Given the description of an element on the screen output the (x, y) to click on. 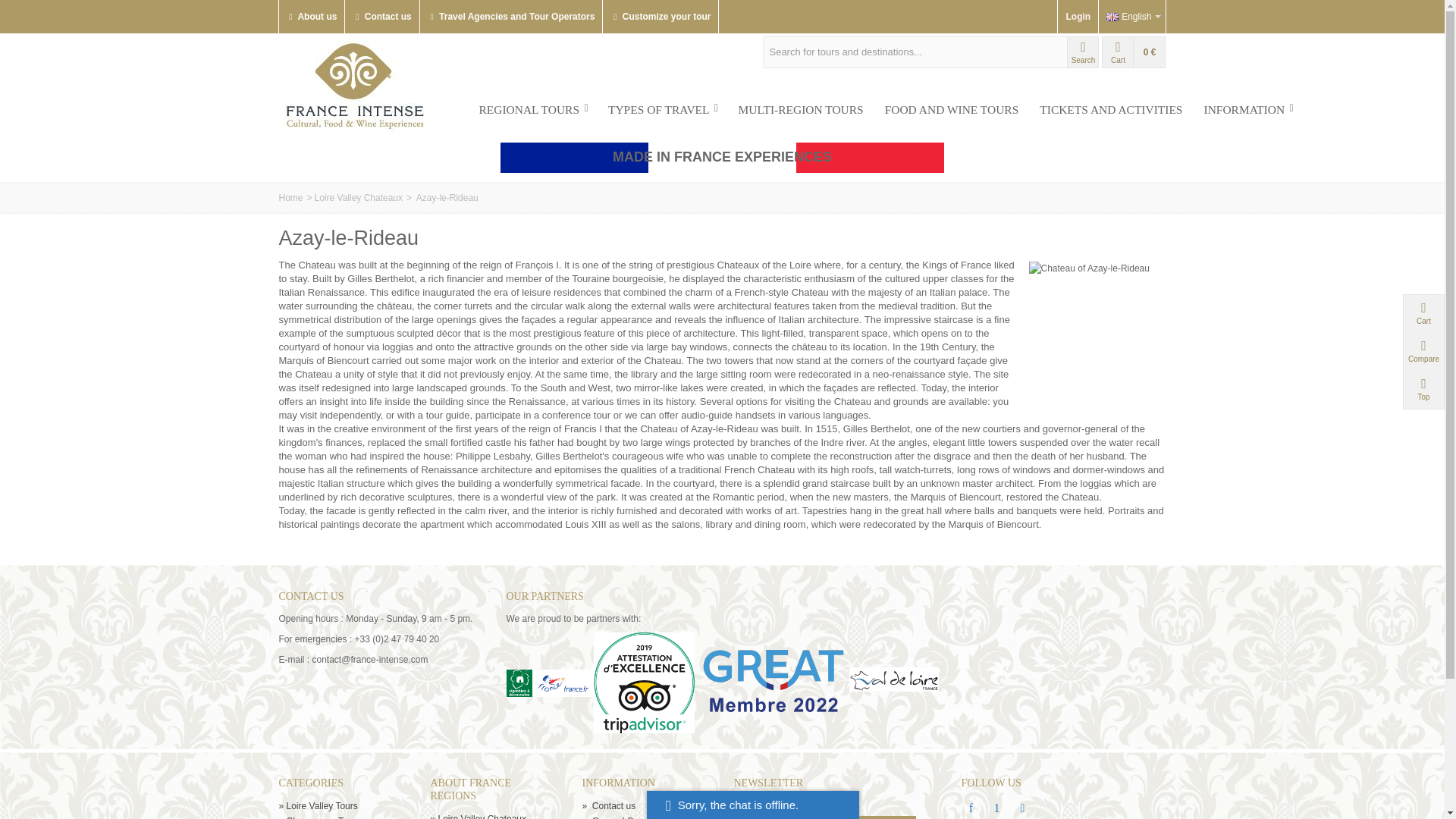
Contact us (381, 16)
View my shopping cart (1134, 51)
Return to Home (290, 197)
Log in to your customer account (1078, 16)
France Intense (354, 82)
Chateau of Azay-le-Rideau (1092, 322)
Search (1083, 51)
Customize your tour (660, 16)
Login (1078, 16)
About us (311, 16)
